Given the description of an element on the screen output the (x, y) to click on. 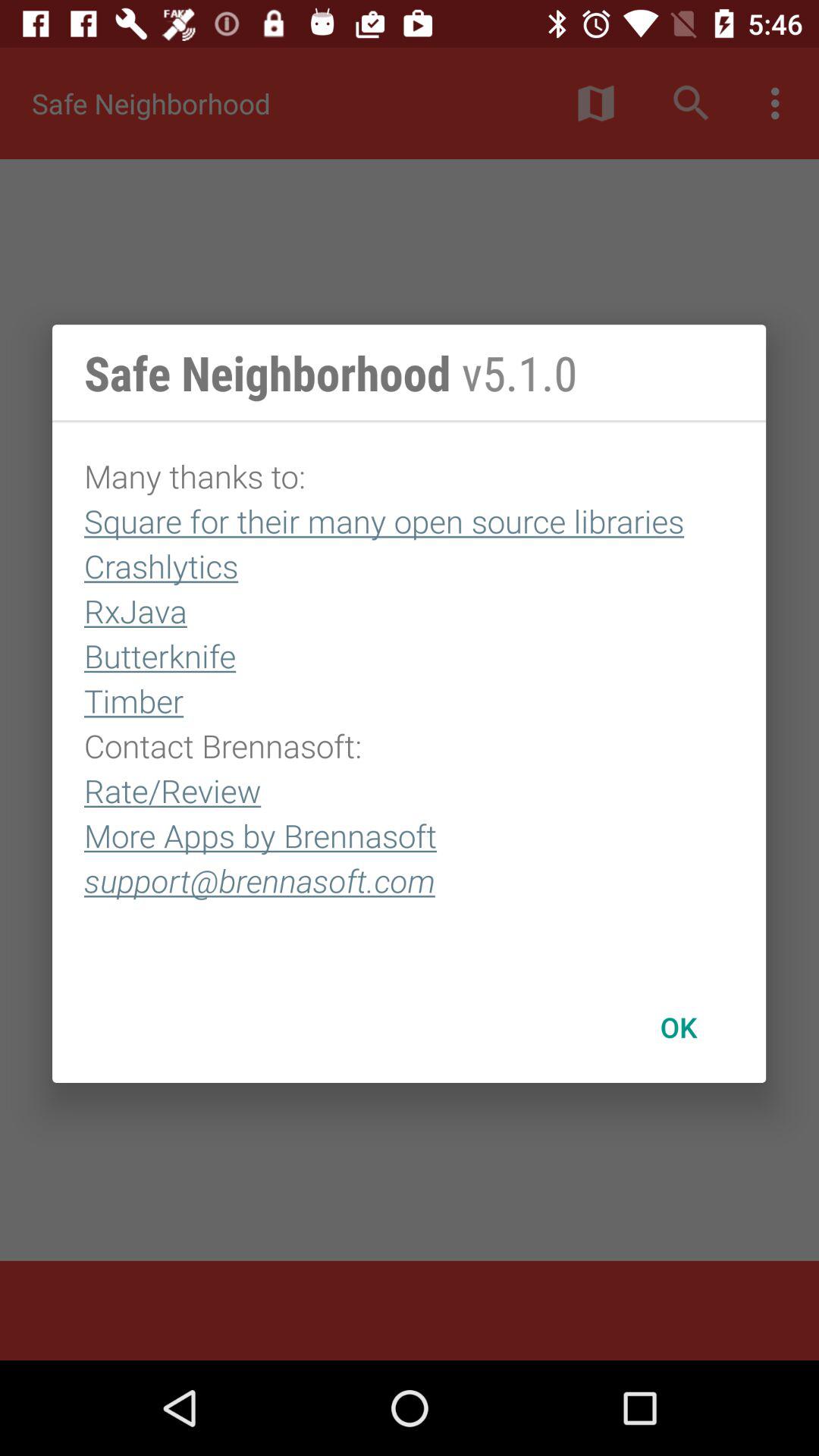
open ok item (678, 1026)
